Given the description of an element on the screen output the (x, y) to click on. 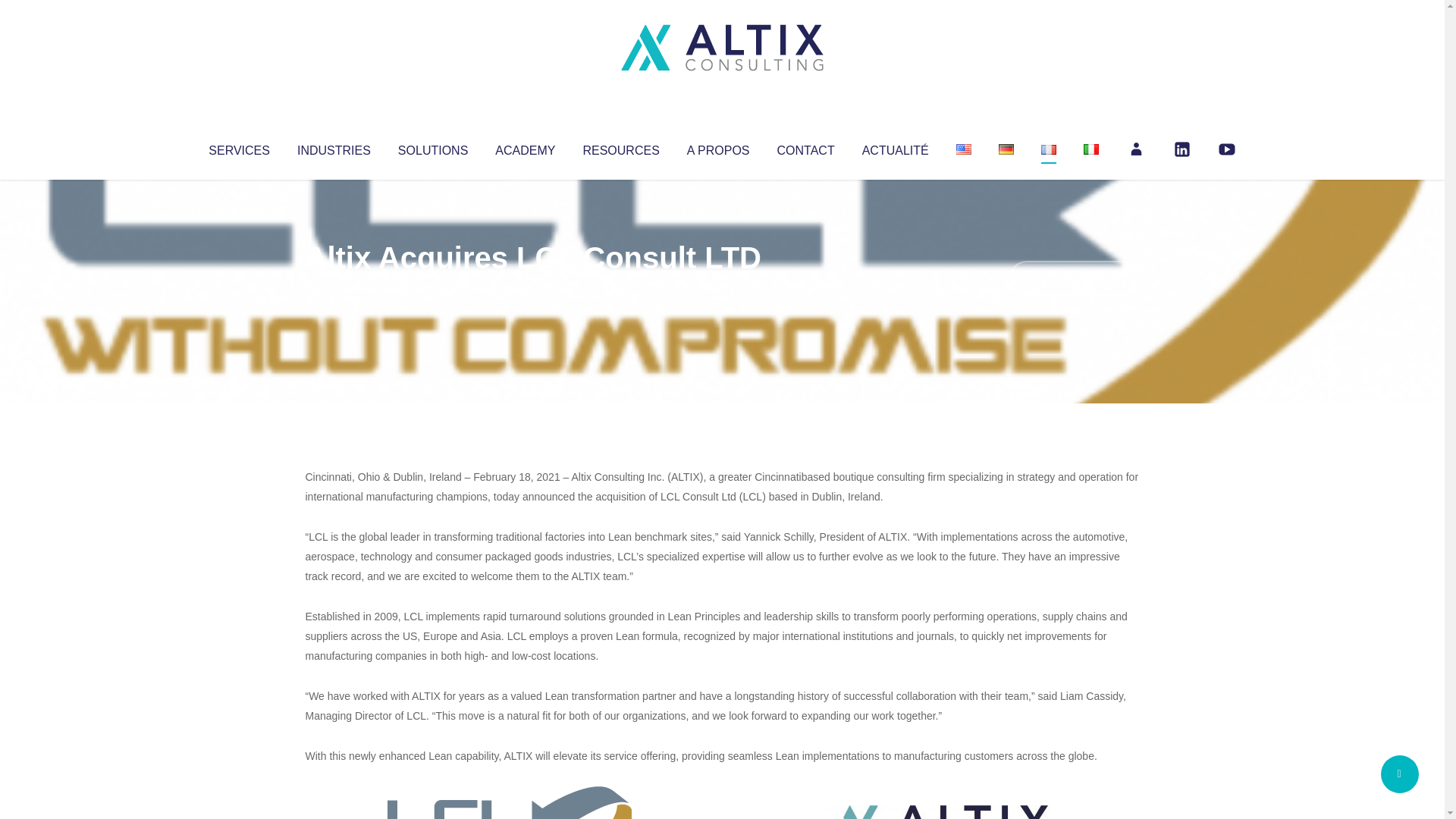
A PROPOS (718, 146)
Uncategorized (530, 287)
No Comments (1073, 278)
Altix (333, 287)
Articles par Altix (333, 287)
SERVICES (238, 146)
SOLUTIONS (432, 146)
INDUSTRIES (334, 146)
ACADEMY (524, 146)
RESOURCES (620, 146)
